Given the description of an element on the screen output the (x, y) to click on. 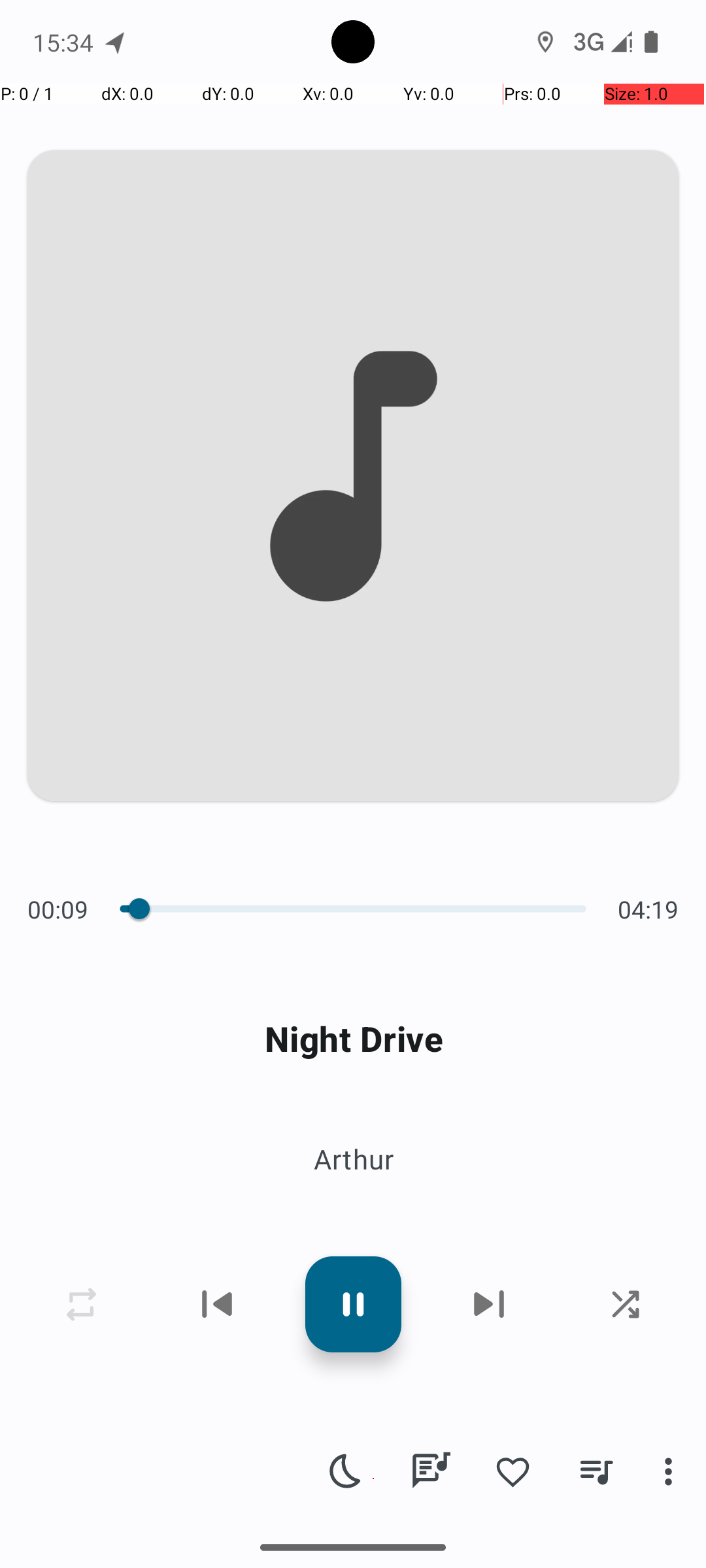
00:09 Element type: android.widget.TextView (61, 908)
04:19 Element type: android.widget.TextView (643, 908)
Night Drive Element type: android.widget.TextView (353, 1038)
Arthur Element type: android.widget.TextView (352, 1158)
Sleep timer Element type: android.widget.Button (346, 1471)
Lyrics Element type: android.widget.Button (429, 1471)
Add to favorites Element type: android.widget.Button (512, 1471)
Now playing queue Element type: android.widget.Button (595, 1471)
1 Album • 1 Song • 04:19 Element type: android.widget.TextView (352, 1004)
Play all Element type: android.widget.Button (186, 1096)
Album Element type: android.widget.TextView (353, 1188)
Value, 5002 Element type: android.widget.SeekBar (134, 908)
Music Element type: android.widget.TextView (168, 1544)
